Given the description of an element on the screen output the (x, y) to click on. 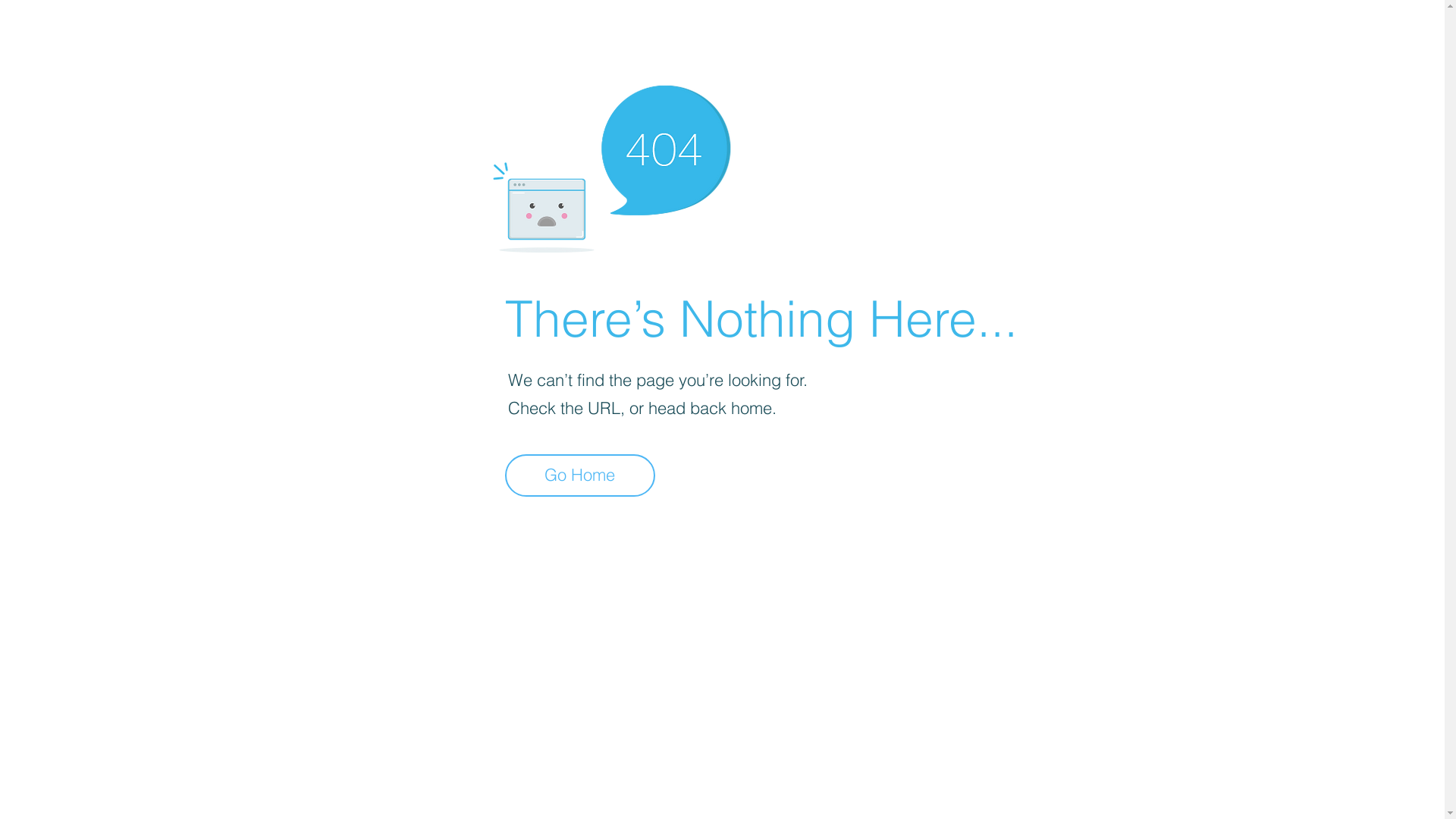
Go Home Element type: text (580, 475)
404-icon_2.png Element type: hover (610, 164)
